Given the description of an element on the screen output the (x, y) to click on. 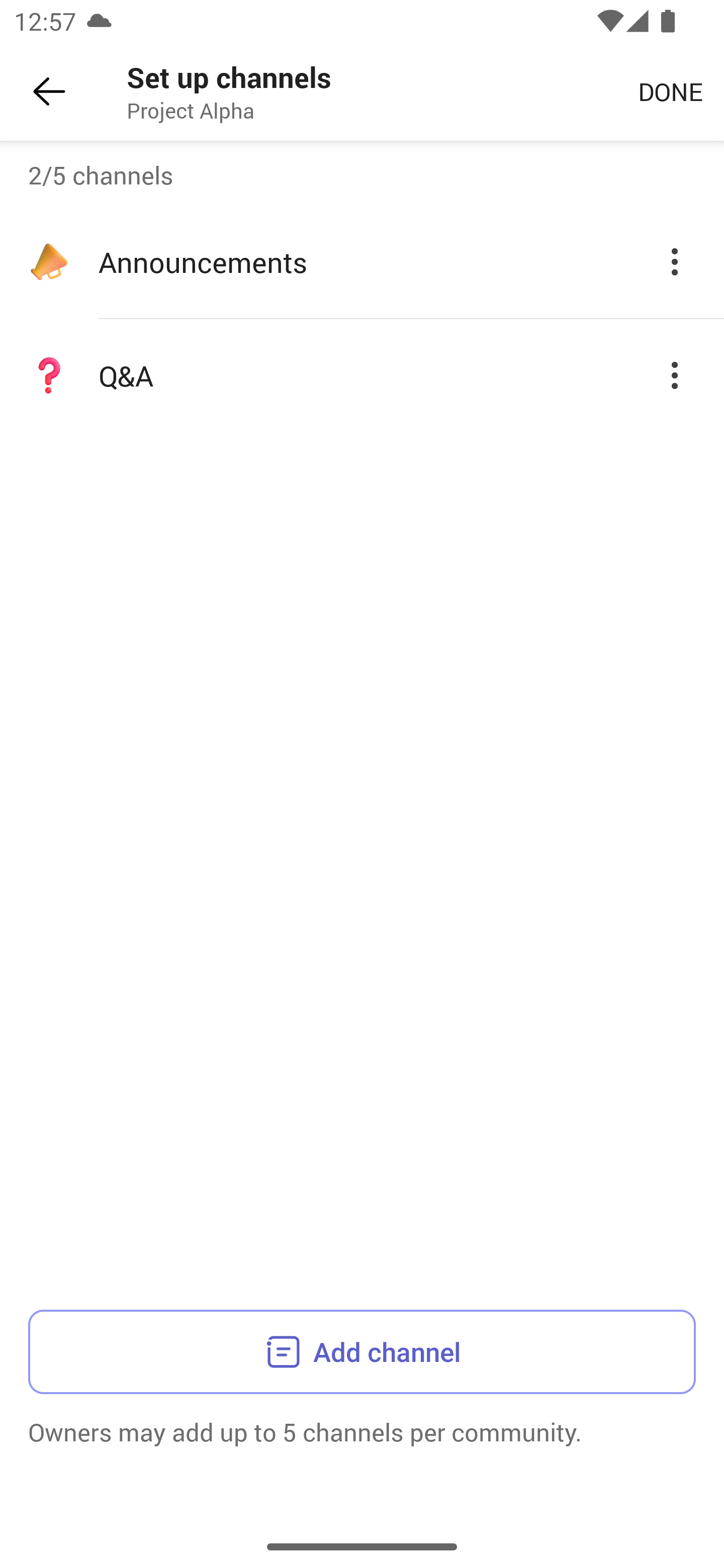
Back (49, 91)
DONE (670, 90)
Channel options for Announcements (674, 261)
Channel options for Q&A (674, 375)
Add channel (361, 1351)
